Given the description of an element on the screen output the (x, y) to click on. 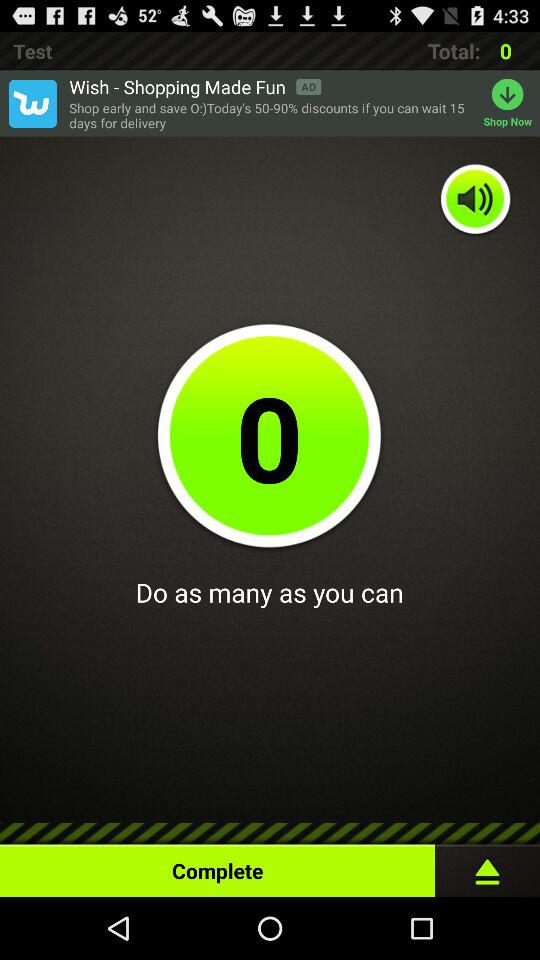
choose the complete (217, 866)
